Given the description of an element on the screen output the (x, y) to click on. 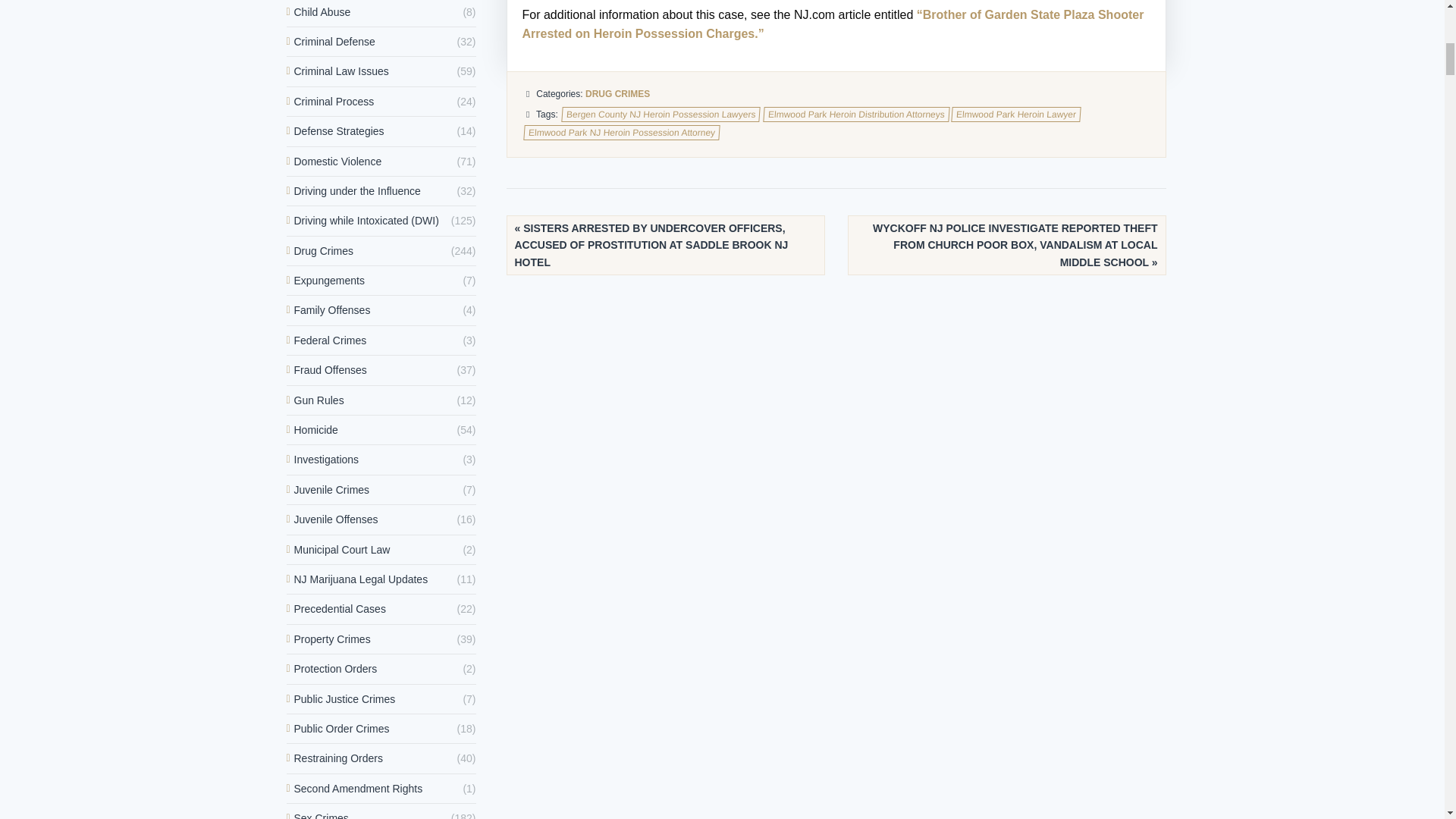
Bergen County NJ Heroin Possession Lawyers (659, 114)
Elmwood Park NJ Heroin Possession Attorney (620, 132)
Elmwood Park Heroin Lawyer (1016, 114)
DRUG CRIMES (617, 93)
Elmwood Park Heroin Distribution Attorneys (855, 114)
